Given the description of an element on the screen output the (x, y) to click on. 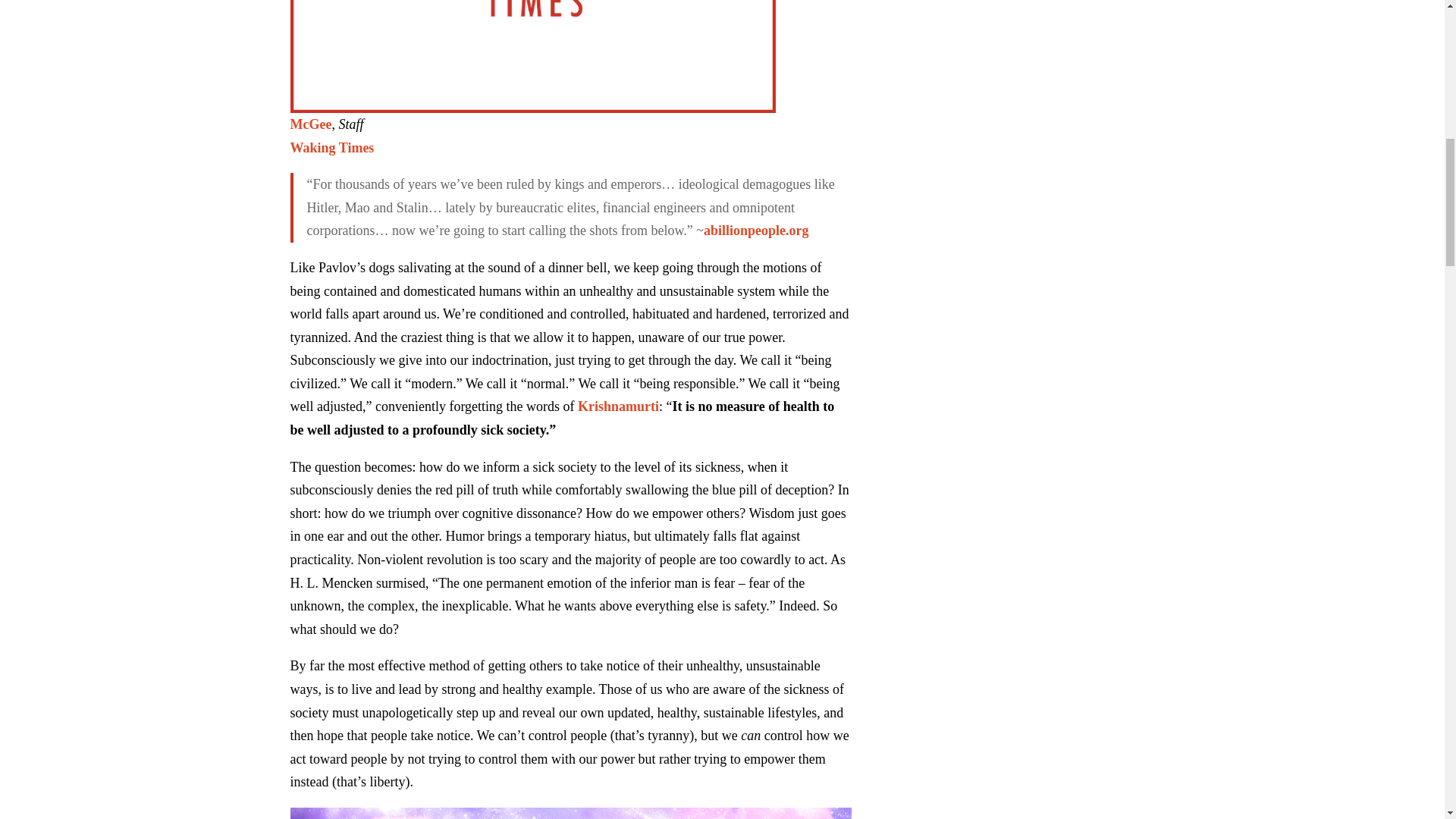
abillionpeople.org (756, 230)
Krishnamurti (618, 406)
Waking Times (331, 147)
